Given the description of an element on the screen output the (x, y) to click on. 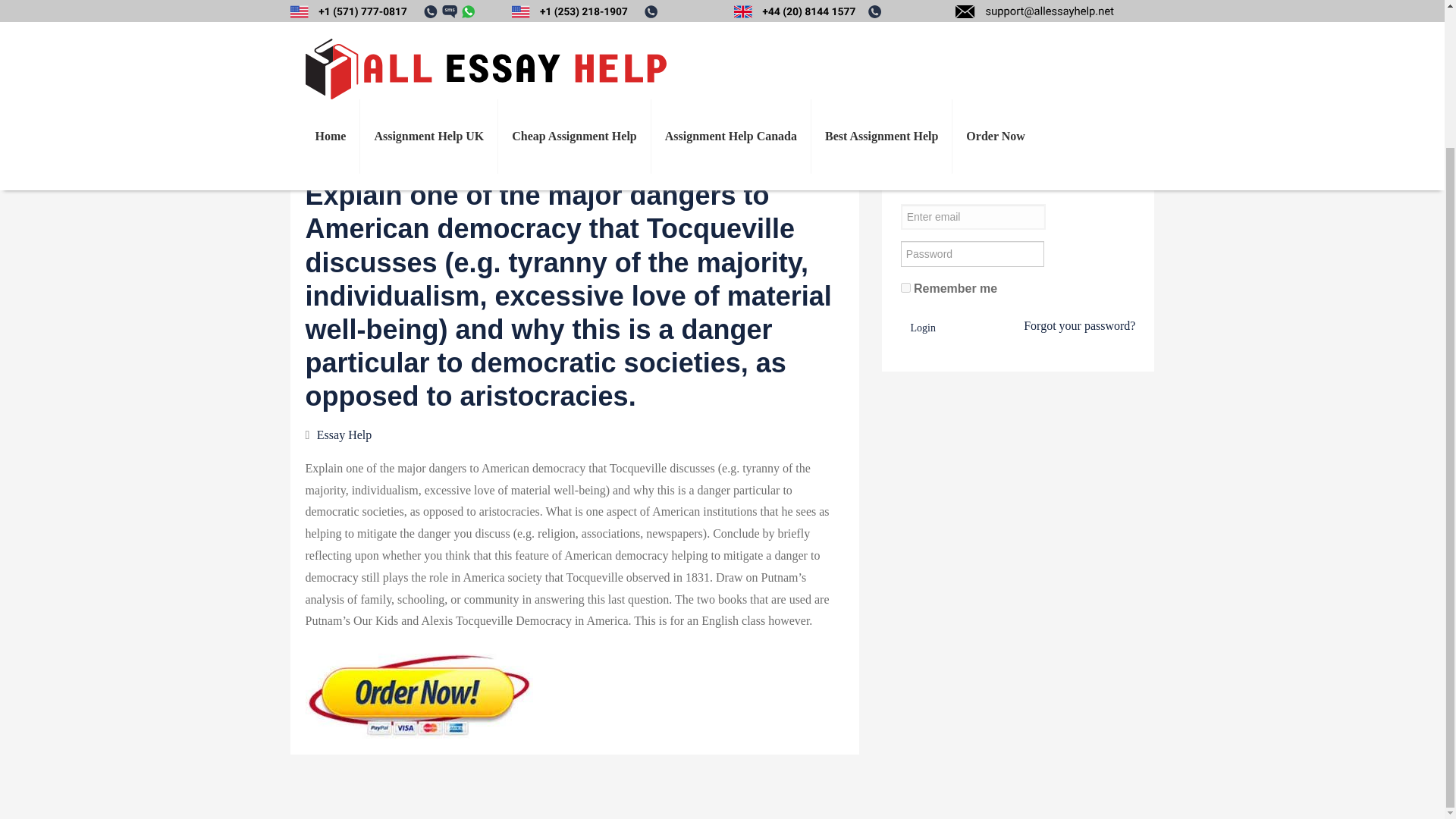
Essay Help (344, 641)
Assignment Help UK (428, 2)
click to Login (922, 335)
Assignment Help Canada (730, 2)
Recover password (1079, 329)
Home (330, 2)
Login (922, 388)
Cheap Assignment Help (573, 2)
Home (330, 2)
on (906, 288)
